Given the description of an element on the screen output the (x, y) to click on. 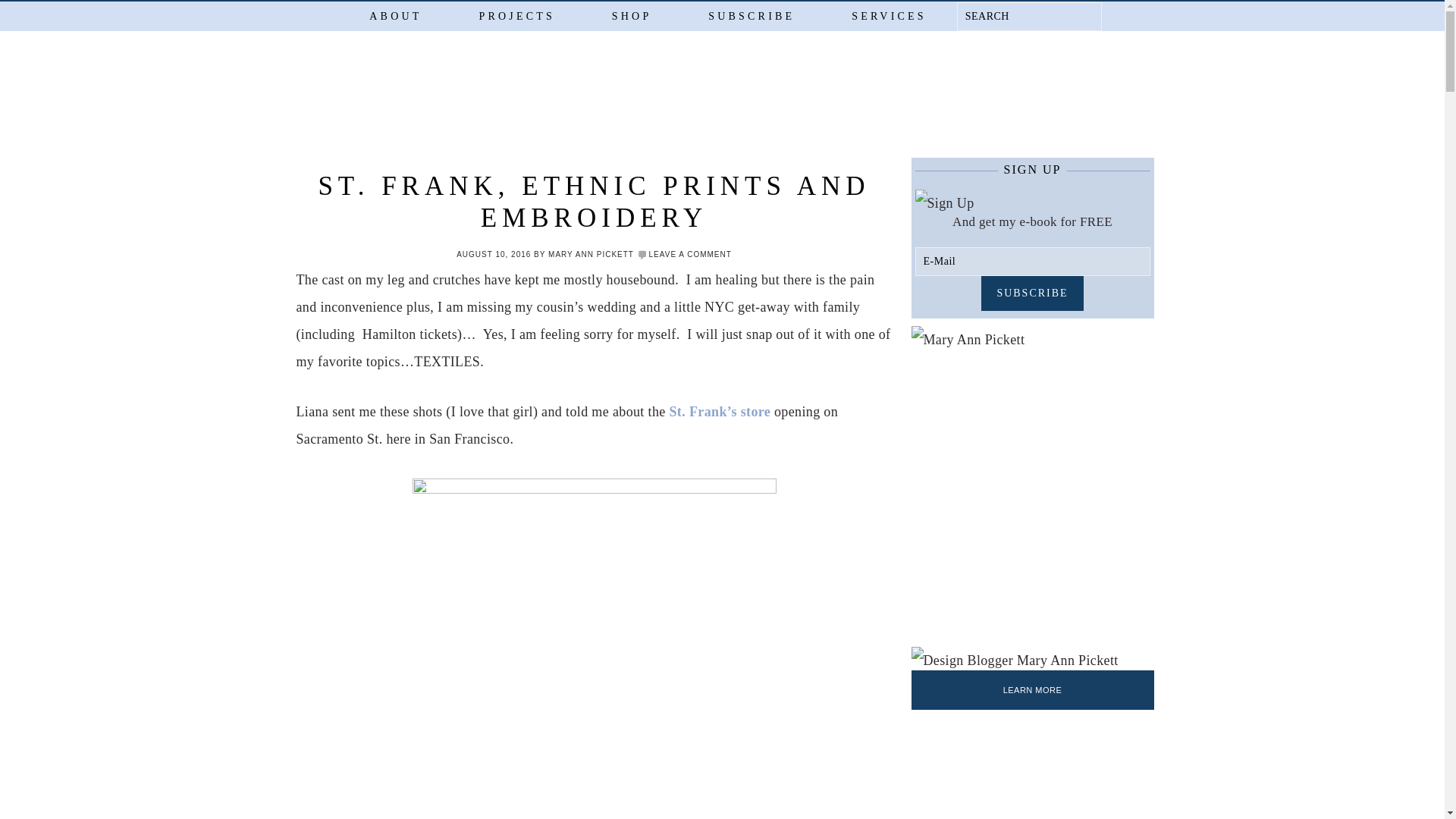
PROJECTS (515, 16)
SHOP (631, 16)
CLASSIC CASUAL HOME (759, 103)
LEAVE A COMMENT (690, 254)
ABOUT (395, 16)
SUBSCRIBE (751, 16)
About Me (1014, 660)
